Given the description of an element on the screen output the (x, y) to click on. 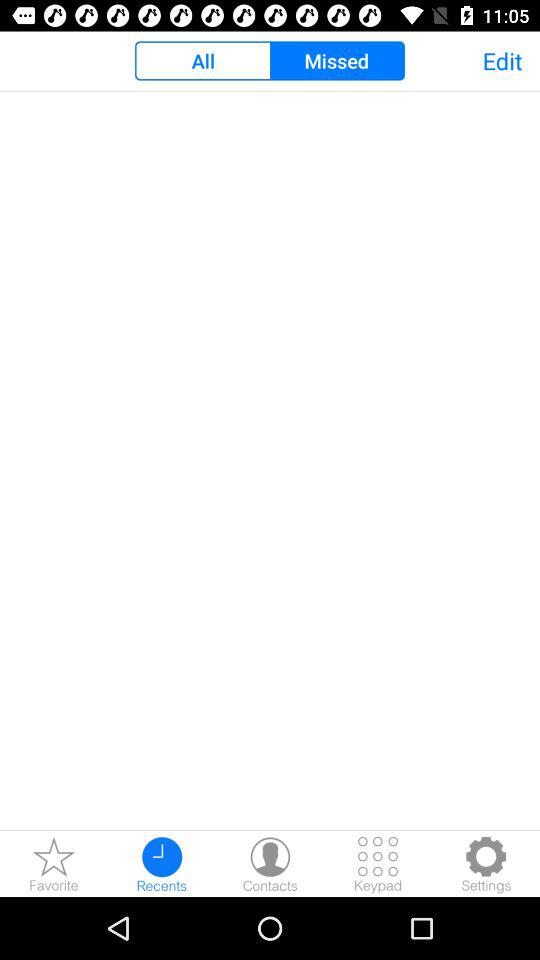
open keypad (377, 864)
